Given the description of an element on the screen output the (x, y) to click on. 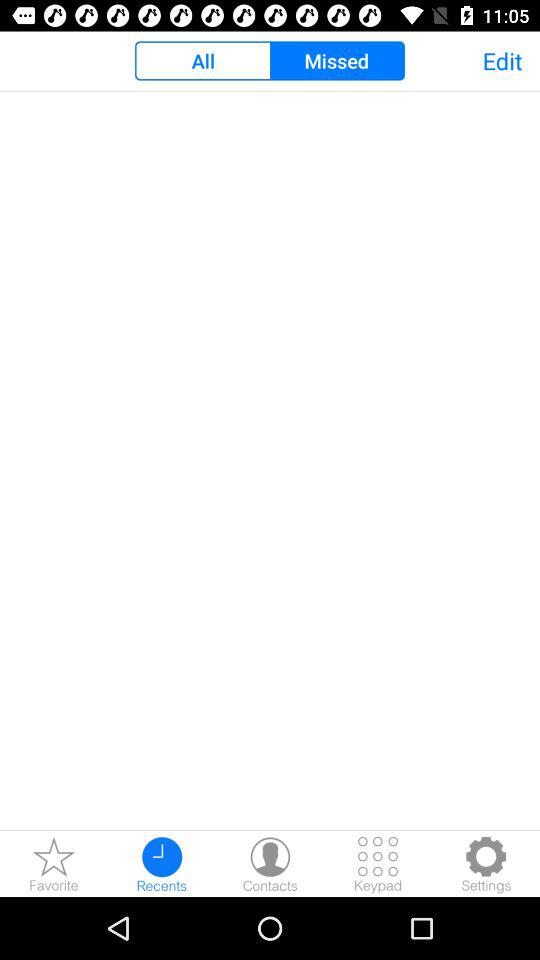
open keypad (377, 864)
